Given the description of an element on the screen output the (x, y) to click on. 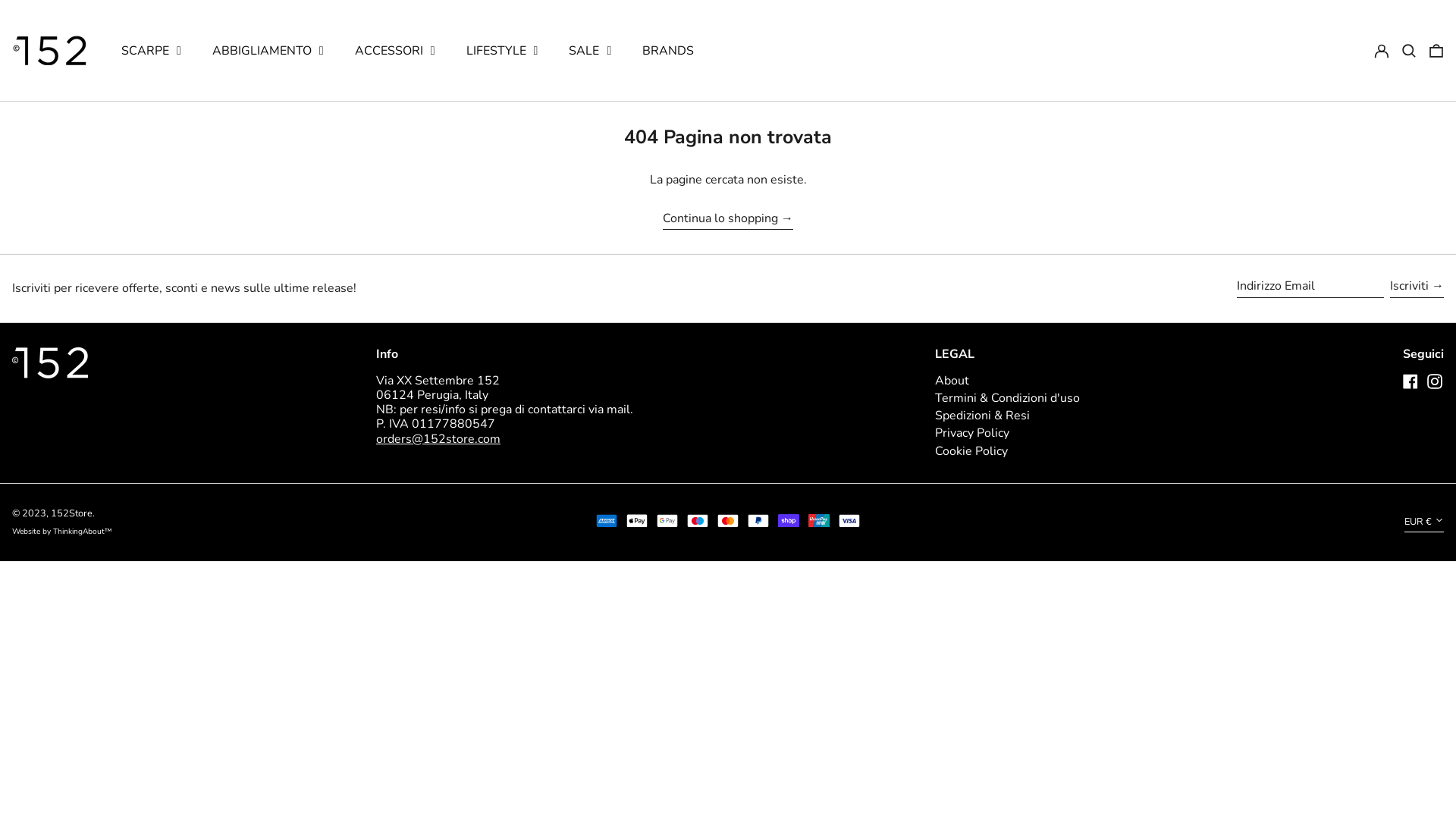
Cerca Element type: text (1408, 50)
0 articoli Element type: text (1435, 50)
SALE Element type: text (589, 50)
About Element type: text (952, 380)
Termini & Condizioni d'uso Element type: text (1007, 397)
152Store Element type: text (71, 513)
orders@152store.com Element type: text (438, 438)
Instagram Element type: text (1434, 384)
Cookie Policy Element type: text (971, 450)
ACCESSORI Element type: text (394, 50)
Spedizioni & Resi Element type: text (982, 415)
SCARPE Element type: text (151, 50)
BRANDS Element type: text (668, 50)
Facebook Element type: text (1410, 384)
LIFESTYLE Element type: text (502, 50)
ABBIGLIAMENTO Element type: text (267, 50)
Privacy Policy Element type: text (972, 432)
Log in Element type: text (1381, 50)
